Given the description of an element on the screen output the (x, y) to click on. 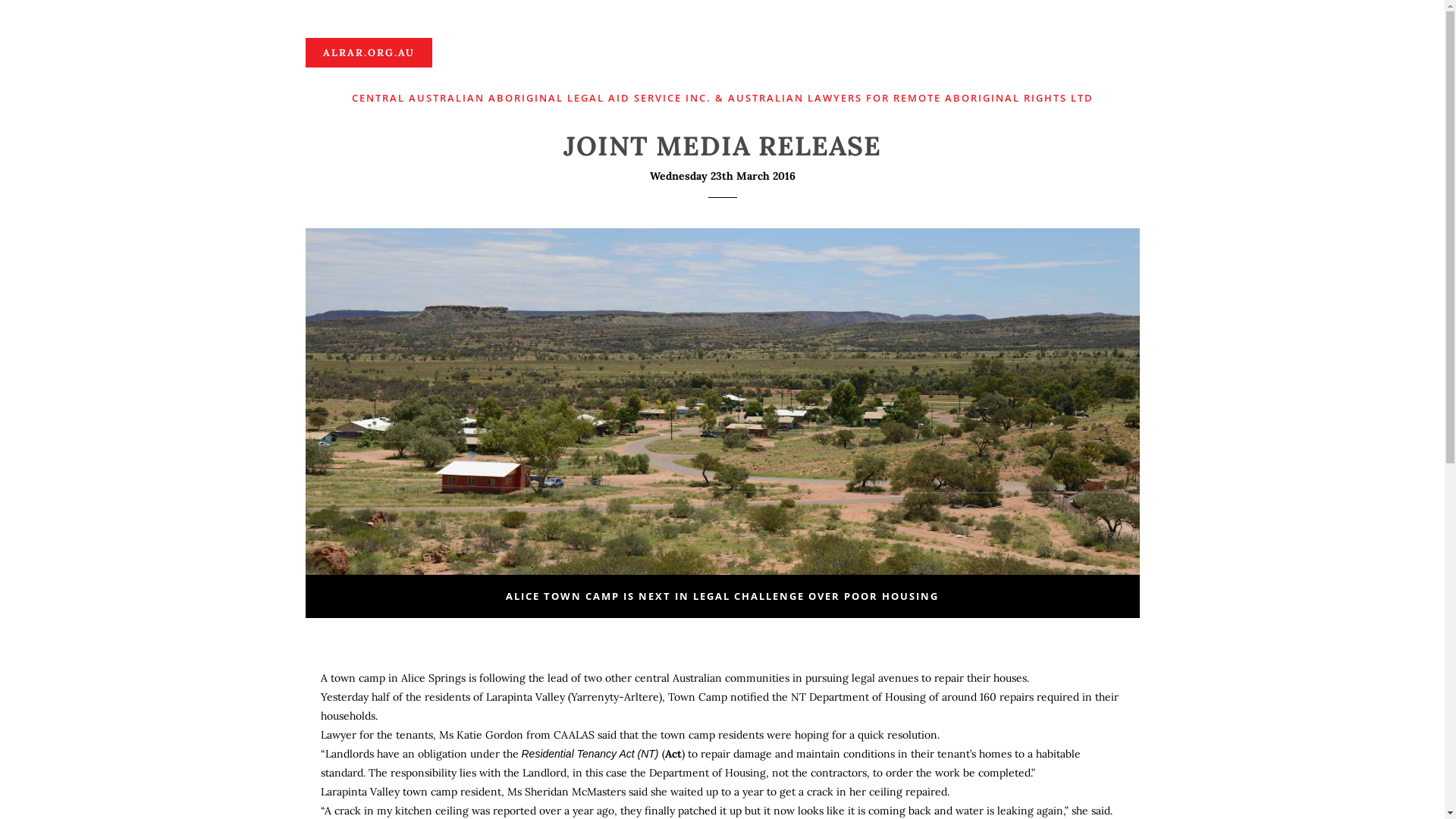
ALRAR.ORG.AU Element type: text (367, 52)
